Given the description of an element on the screen output the (x, y) to click on. 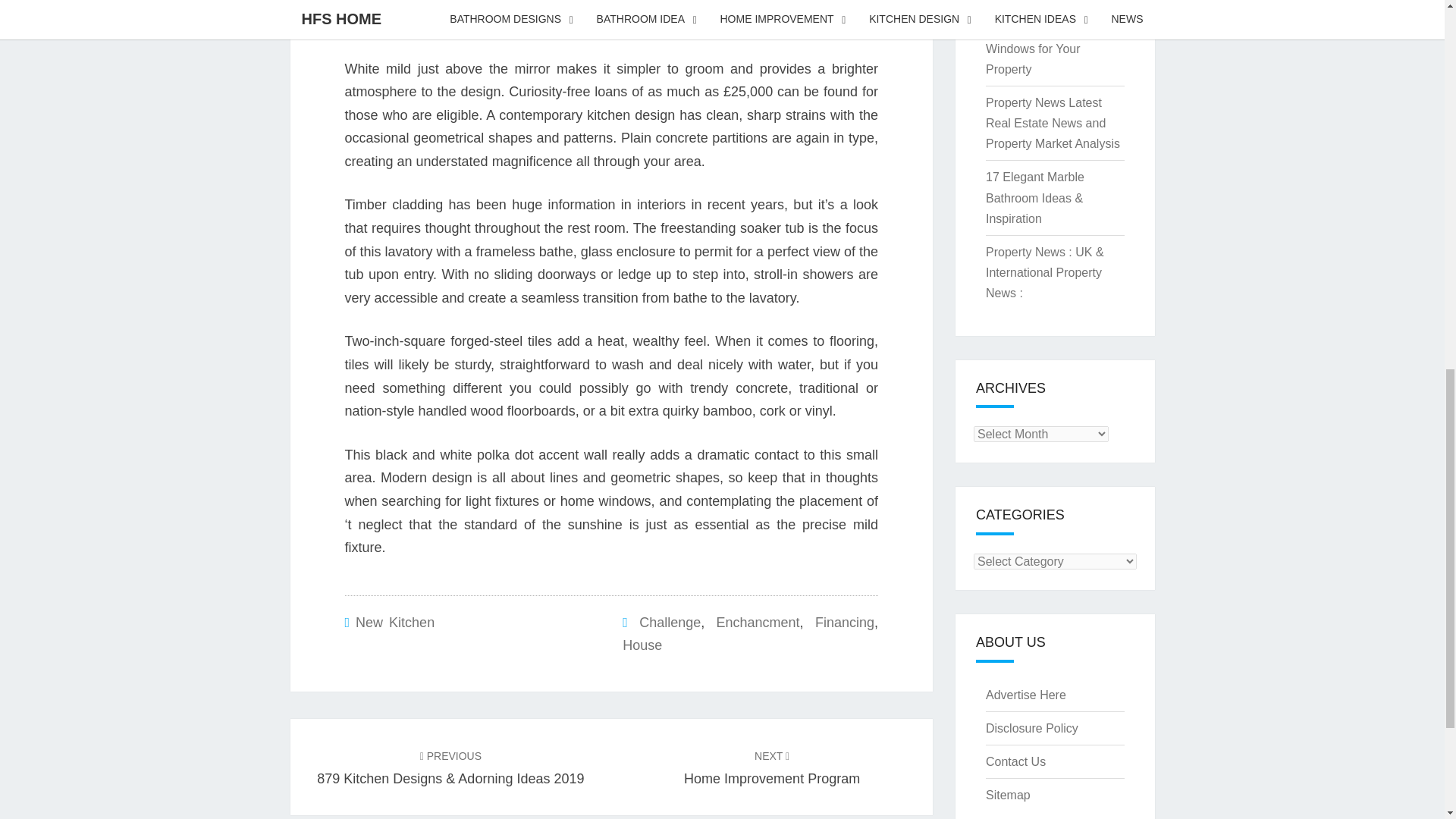
Enchancment (757, 622)
New Kitchen (772, 766)
House (394, 622)
Challenge (642, 645)
Financing (669, 622)
